Given the description of an element on the screen output the (x, y) to click on. 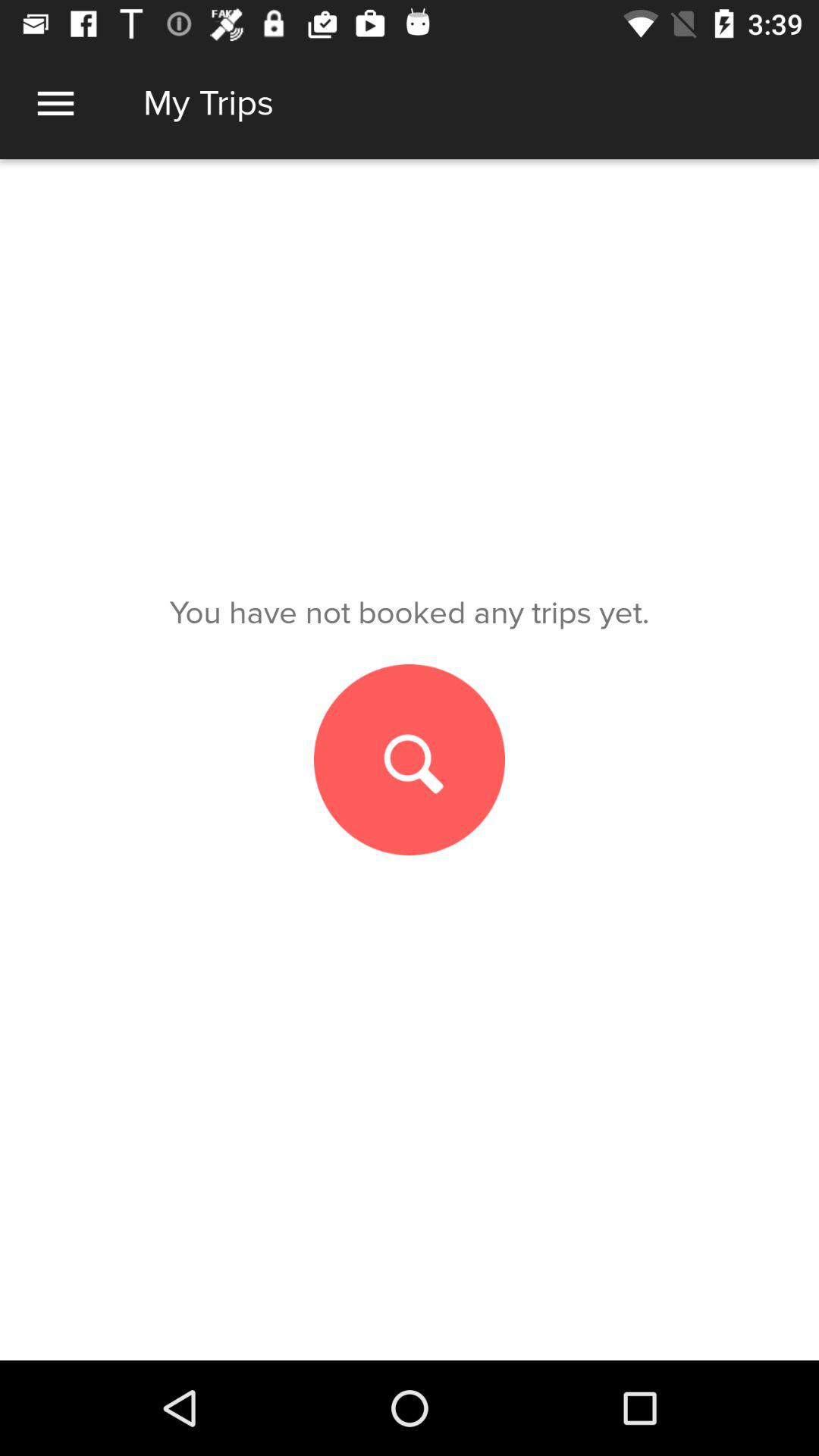
turn off icon next to the my trips item (55, 103)
